Given the description of an element on the screen output the (x, y) to click on. 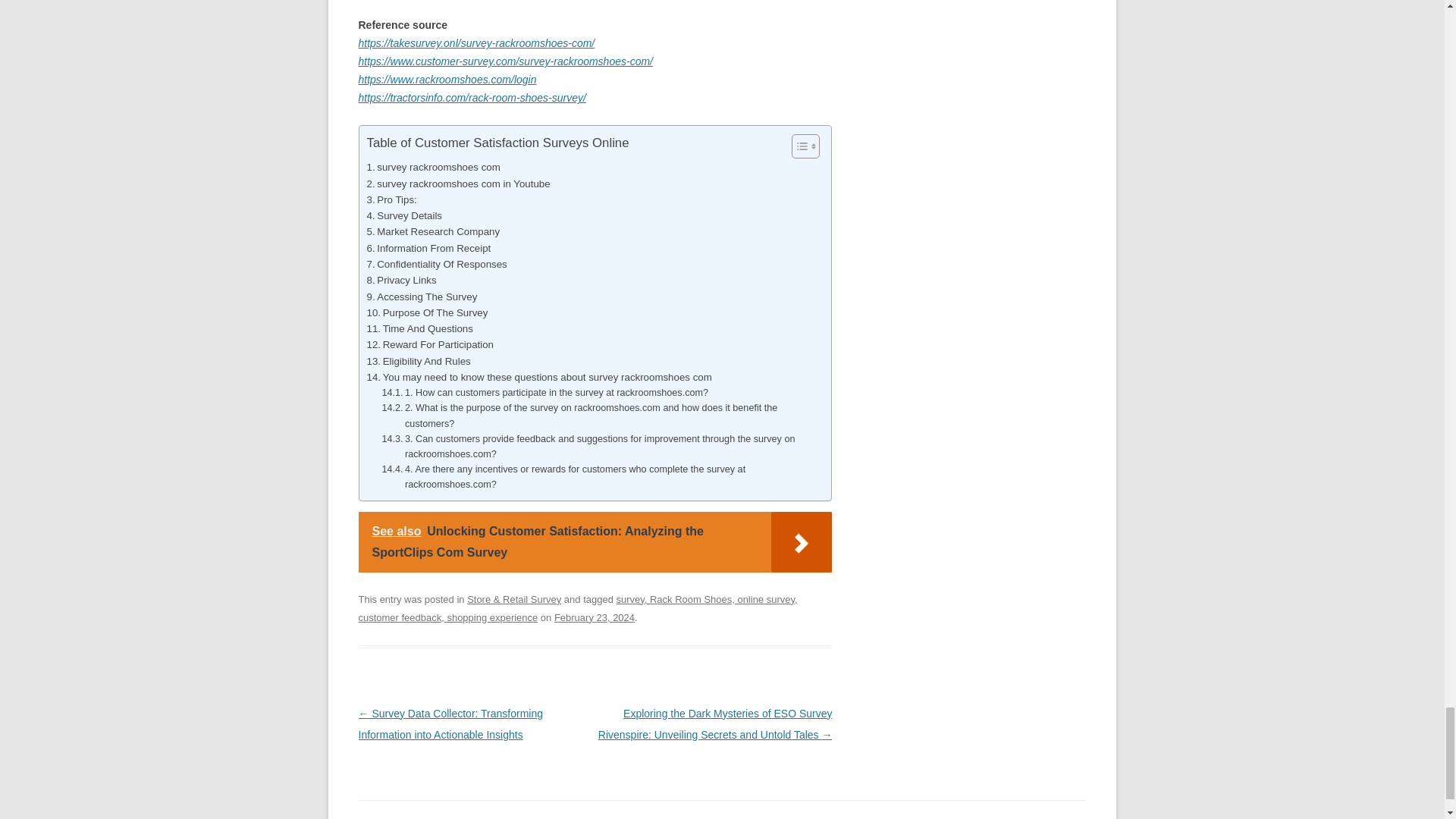
Purpose Of The Survey (426, 312)
Information From Receipt (429, 248)
Confidentiality Of Responses (436, 263)
Survey Details (404, 215)
Reward For Participation (429, 344)
Survey Details (404, 215)
